Given the description of an element on the screen output the (x, y) to click on. 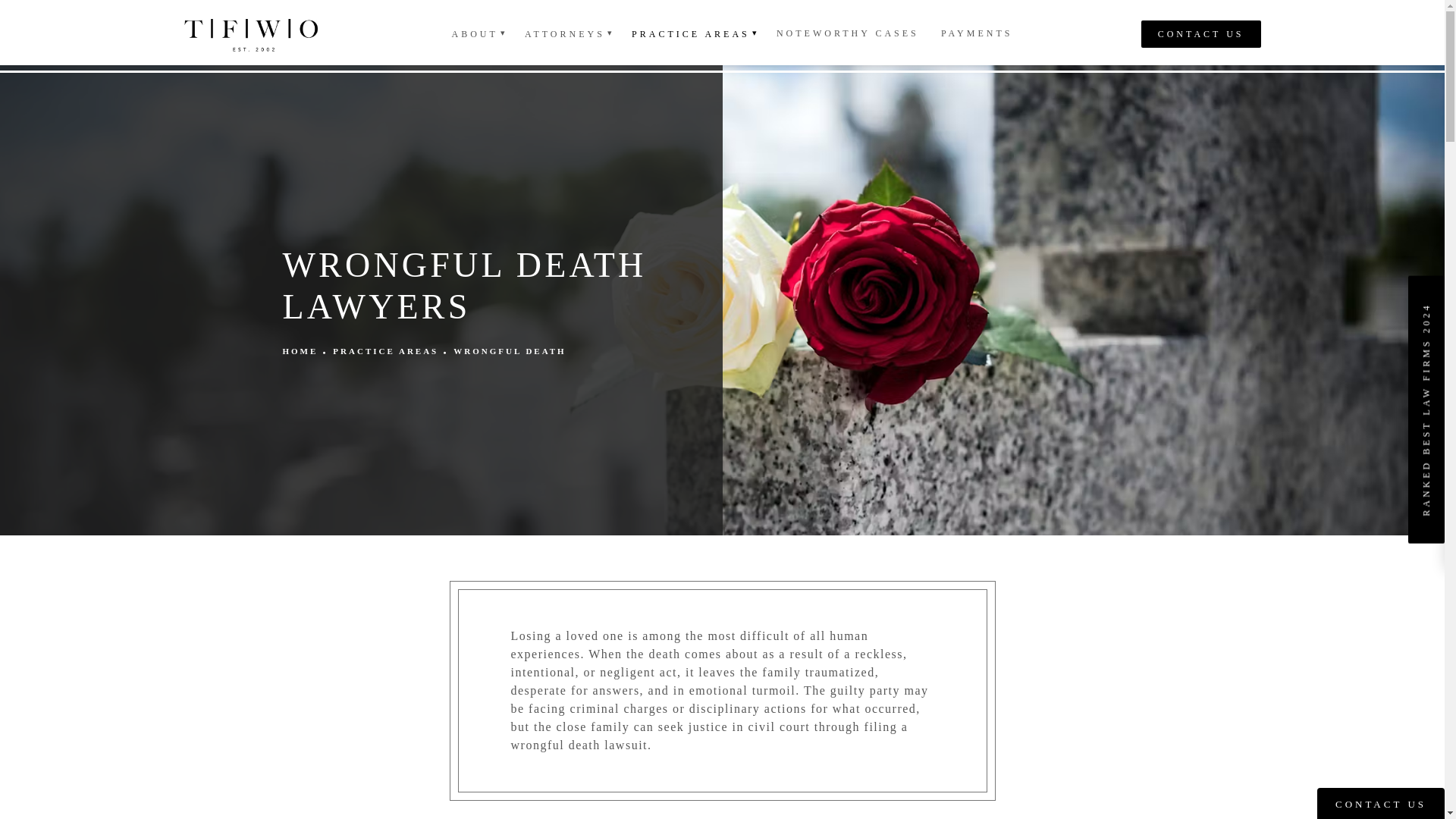
PRACTICE AREAS (692, 33)
ATTORNEYS (566, 33)
ABOUT (477, 33)
